Given the description of an element on the screen output the (x, y) to click on. 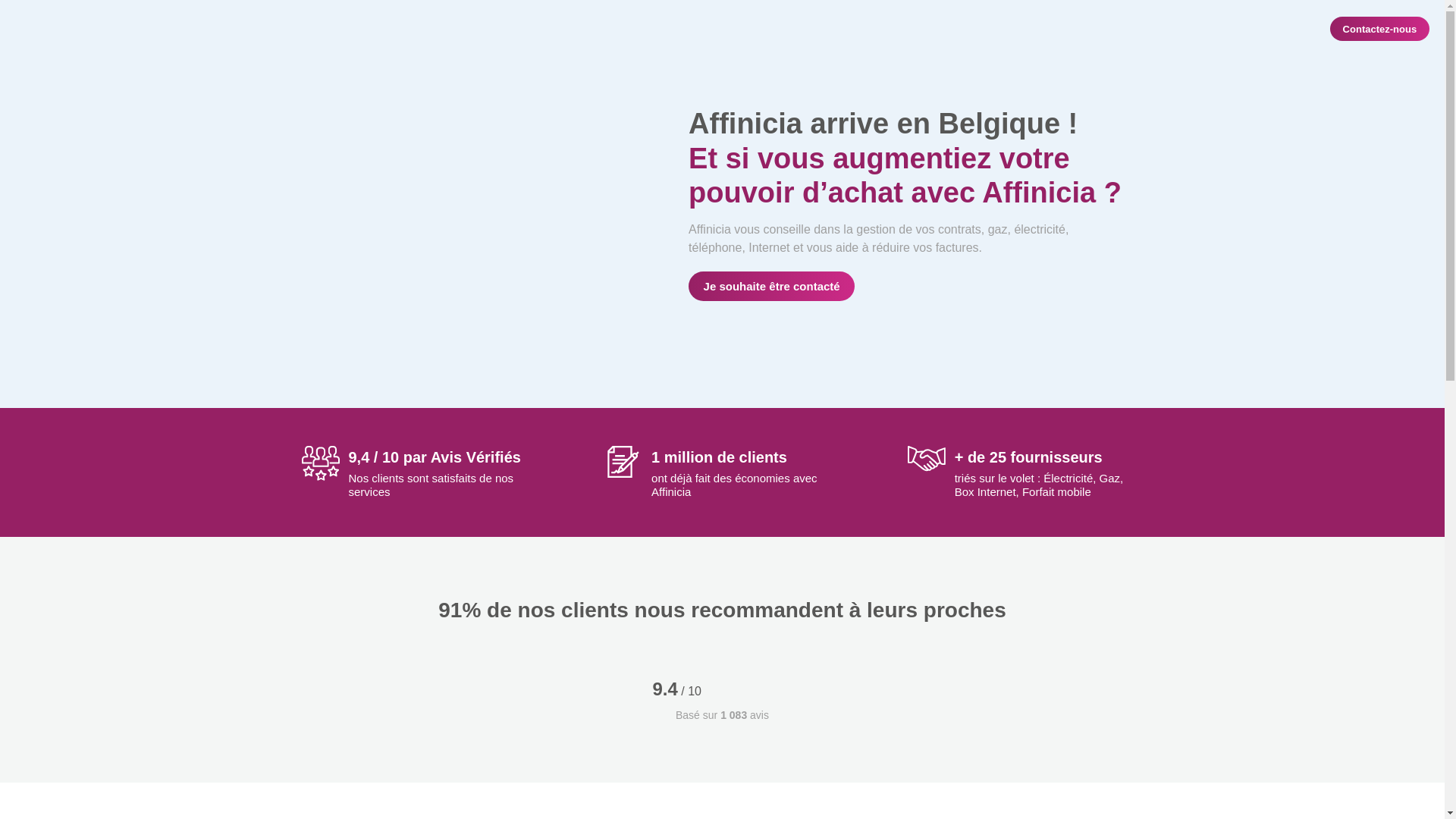
Contactez-nous Element type: text (1379, 28)
